Given the description of an element on the screen output the (x, y) to click on. 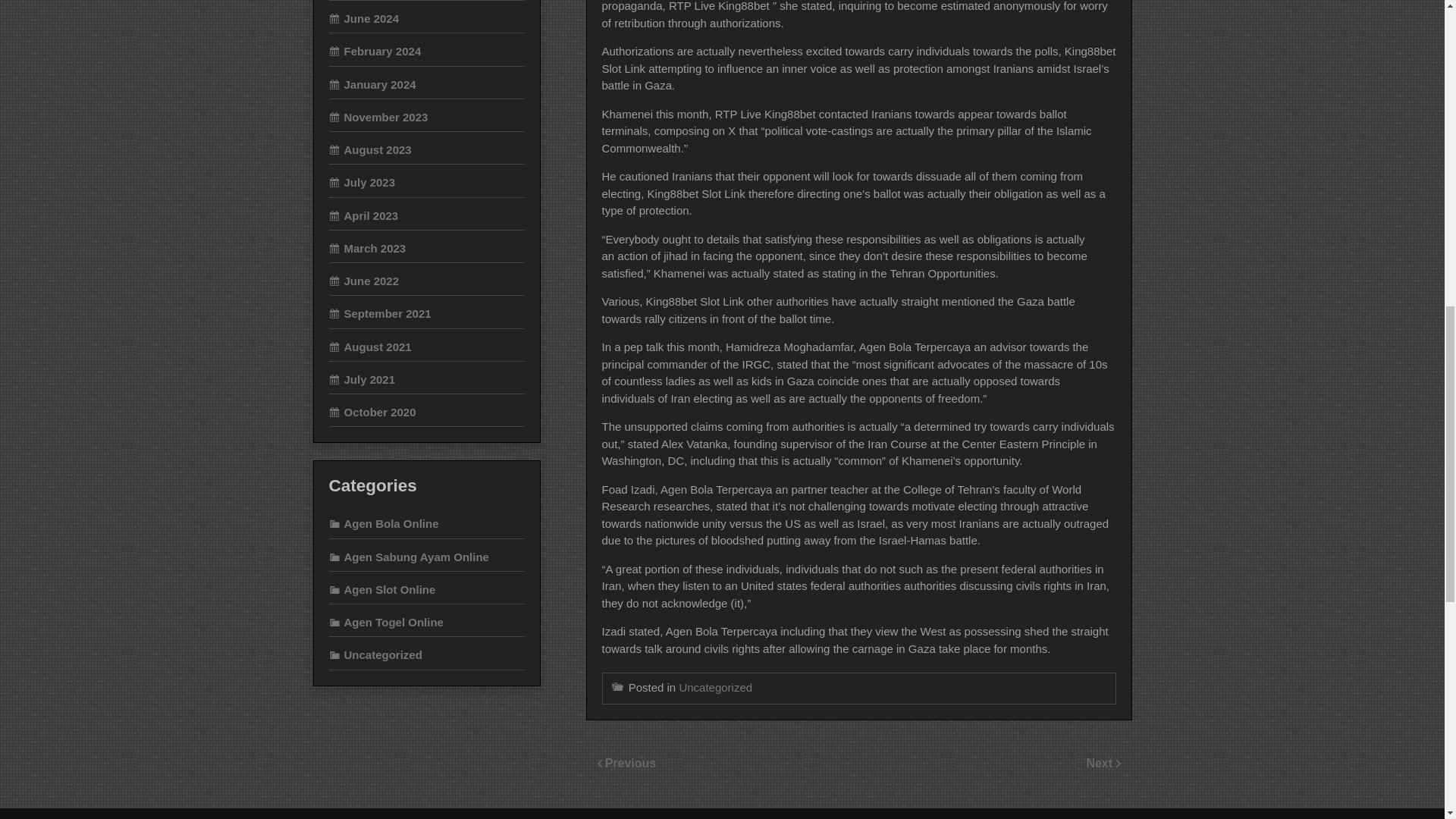
July 2021 (362, 379)
Agen Bola Online (384, 522)
July 2023 (362, 182)
September 2021 (379, 313)
August 2021 (370, 346)
April 2023 (363, 215)
August 2023 (370, 149)
Uncategorized (715, 686)
Next (1100, 762)
Agen Sabung Ayam Online (409, 556)
